Given the description of an element on the screen output the (x, y) to click on. 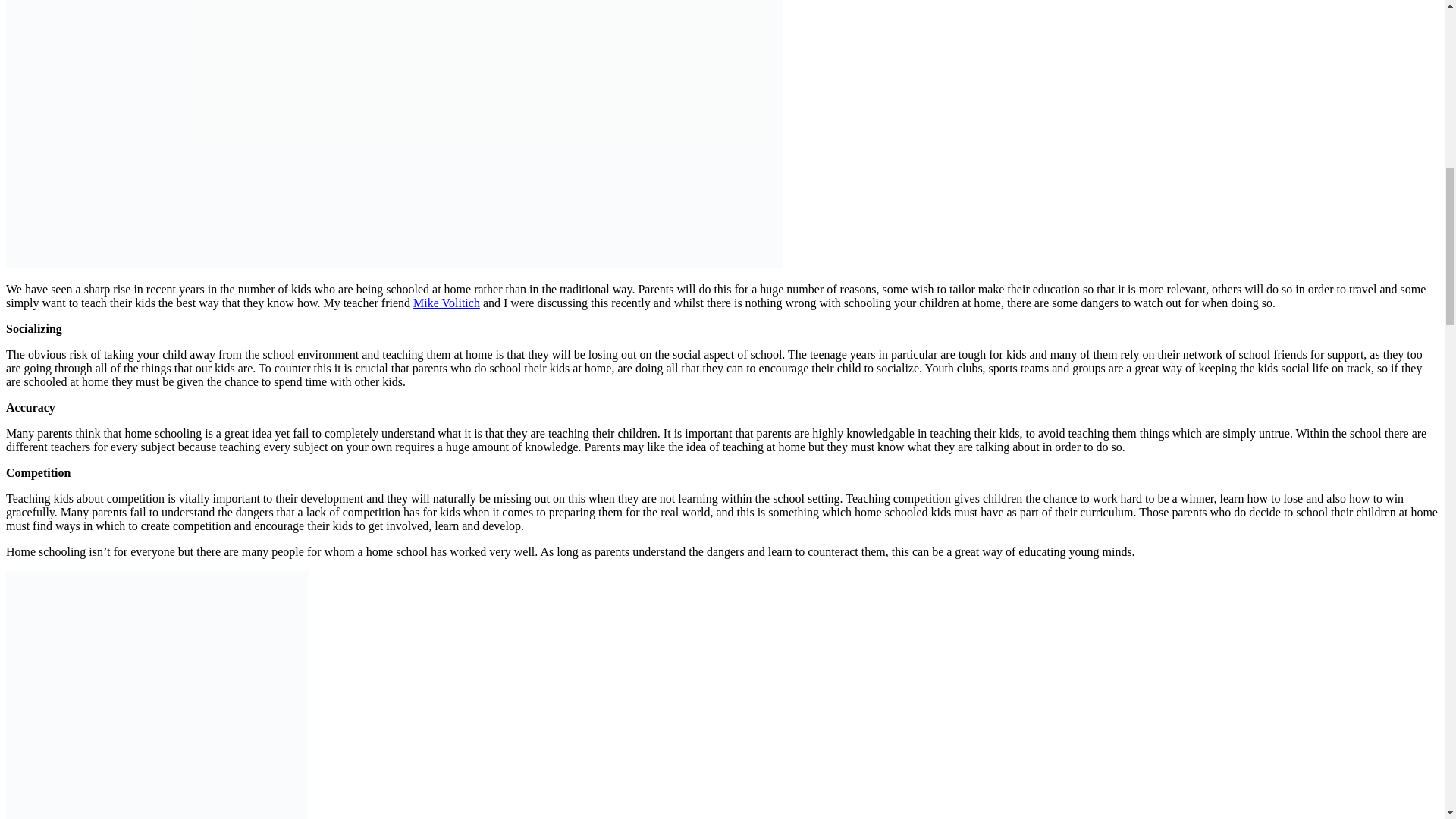
Mike Volitich (446, 302)
